Given the description of an element on the screen output the (x, y) to click on. 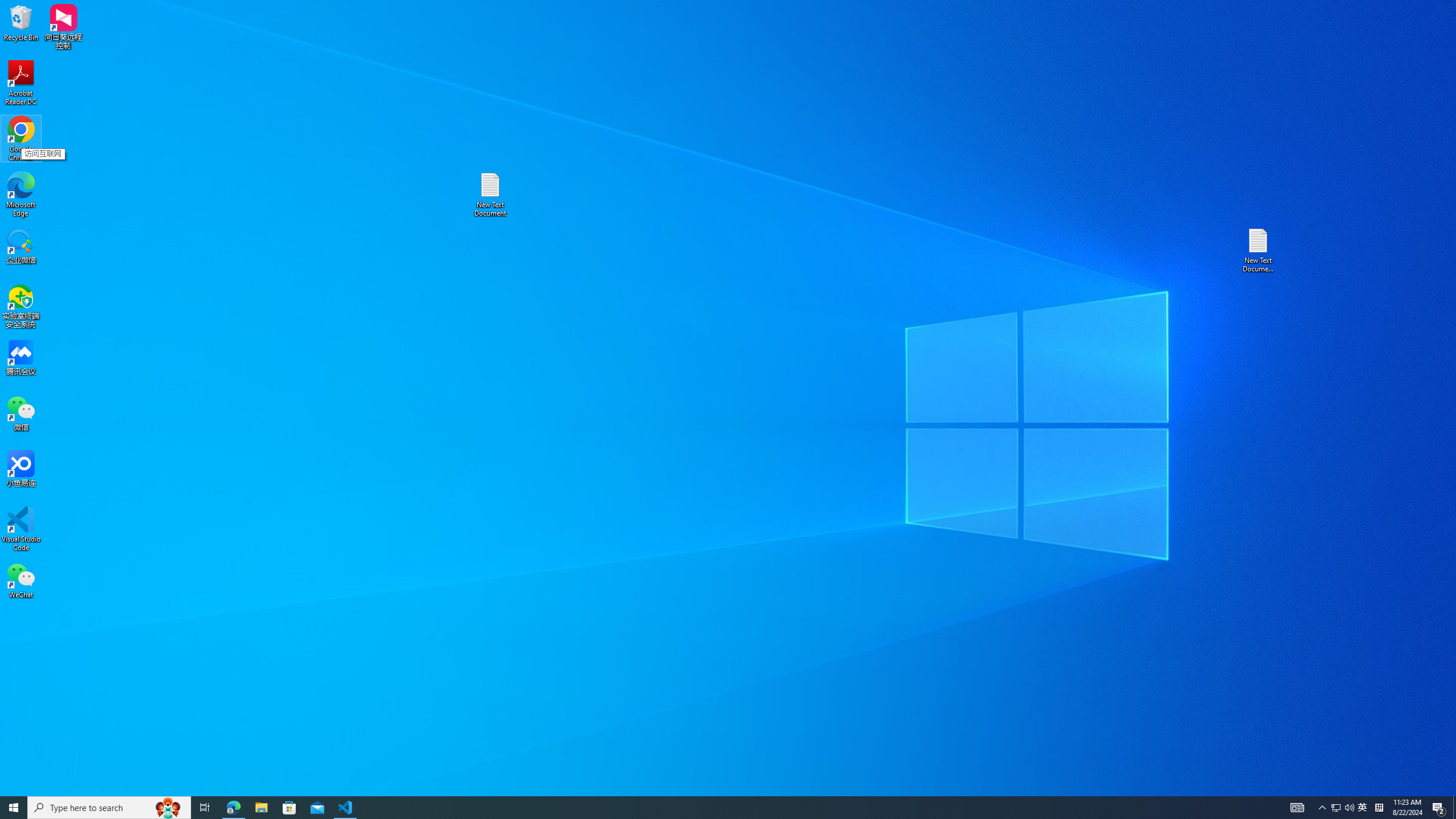
Google Chrome (21, 138)
Type here to search (108, 807)
Visual Studio Code - 1 running window (345, 807)
File Explorer (261, 807)
Visual Studio Code (21, 528)
Action Center, 2 new notifications (1439, 807)
Microsoft Edge (21, 194)
New Text Document (489, 194)
AutomationID: 4105 (1297, 807)
User Promoted Notification Area (1342, 807)
Notification Chevron (1322, 807)
Acrobat Reader DC (21, 82)
